Given the description of an element on the screen output the (x, y) to click on. 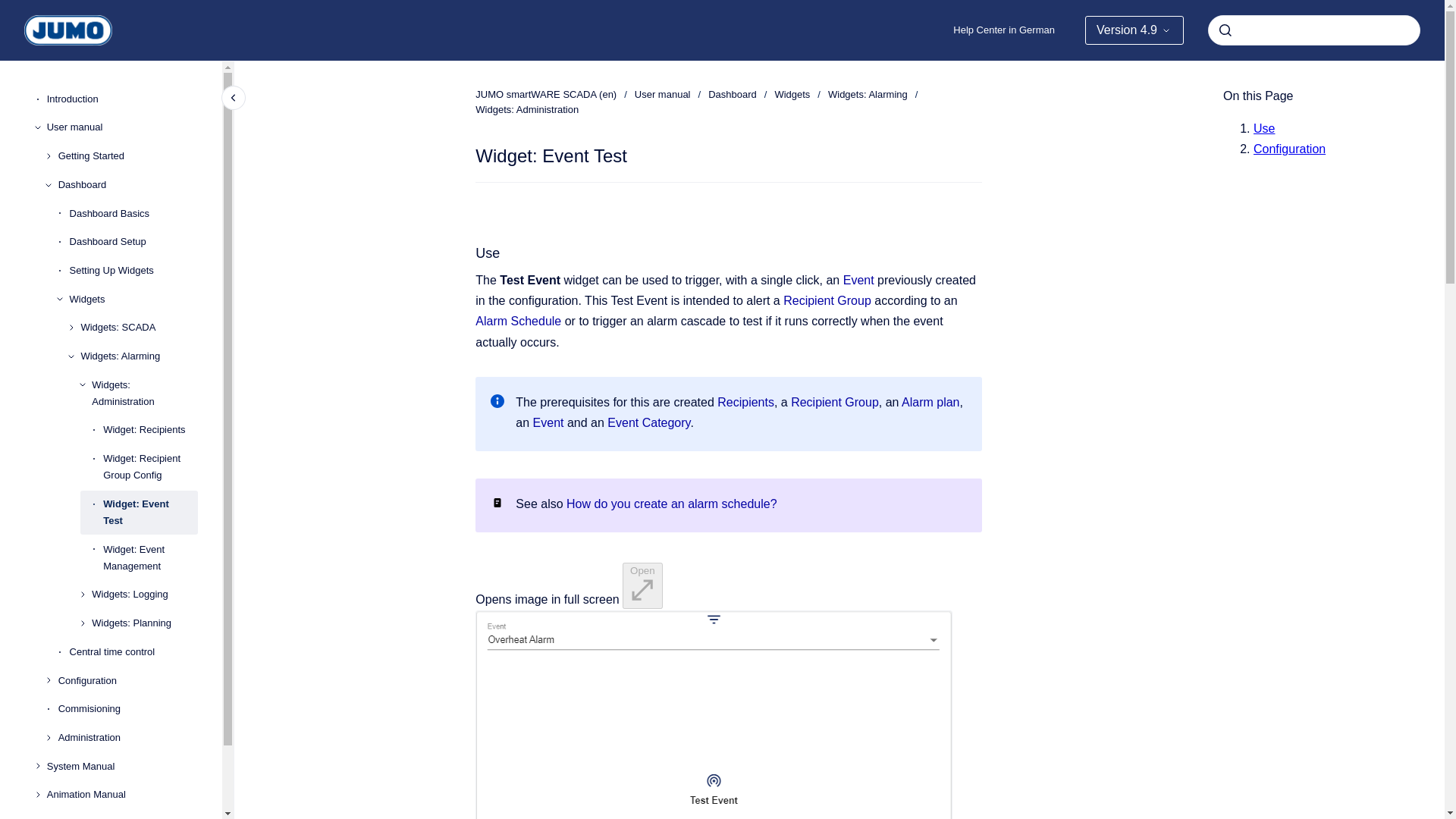
Central time control (133, 651)
User manual (122, 127)
Dashboard Setup (133, 241)
Setting Up Widgets (133, 270)
Widget: Event Test (150, 512)
Configuration (128, 680)
Dashboard (128, 185)
Widget: Recipients (150, 430)
Getting Started (128, 155)
Introduction (122, 99)
